Given the description of an element on the screen output the (x, y) to click on. 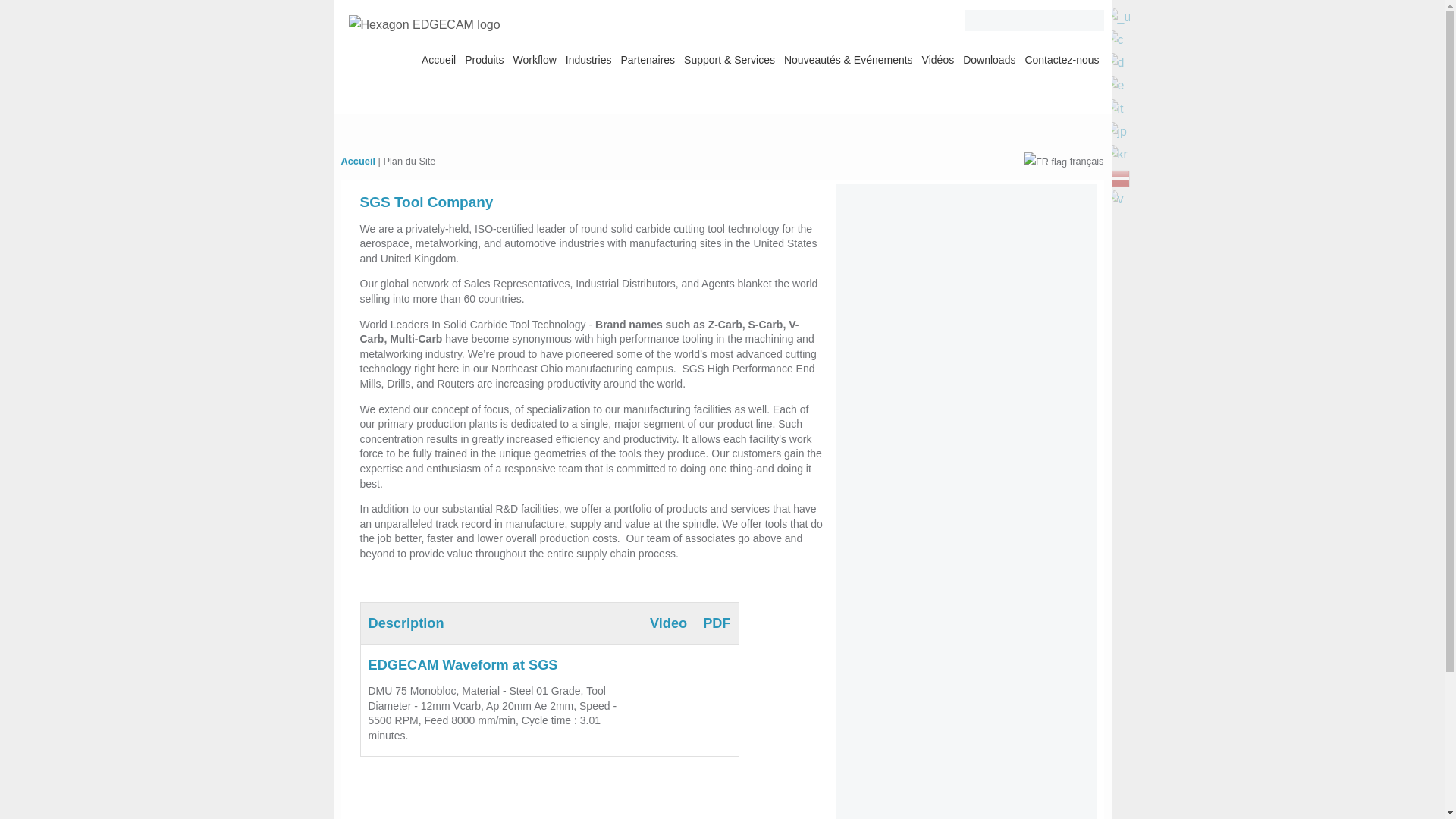
Workflow (1117, 63)
Contactez-nous (1117, 131)
Edgecam Vietnam (535, 59)
Accueil (1061, 59)
Industries (1117, 17)
